Given the description of an element on the screen output the (x, y) to click on. 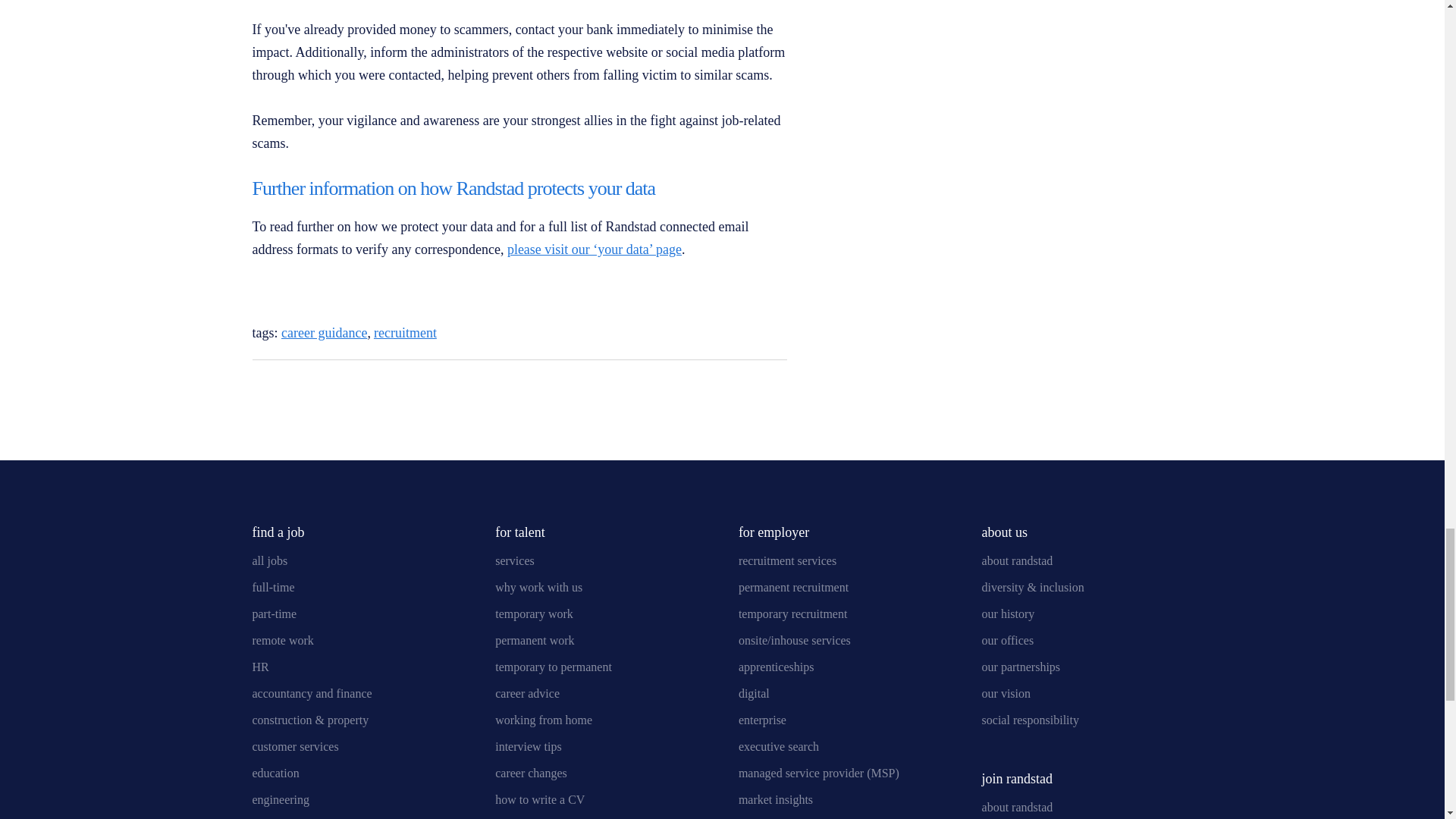
print this article (289, 390)
share this article on twitter (735, 387)
share this article on facebook (774, 387)
email this article (258, 390)
share this article on linkedin (695, 387)
